Given the description of an element on the screen output the (x, y) to click on. 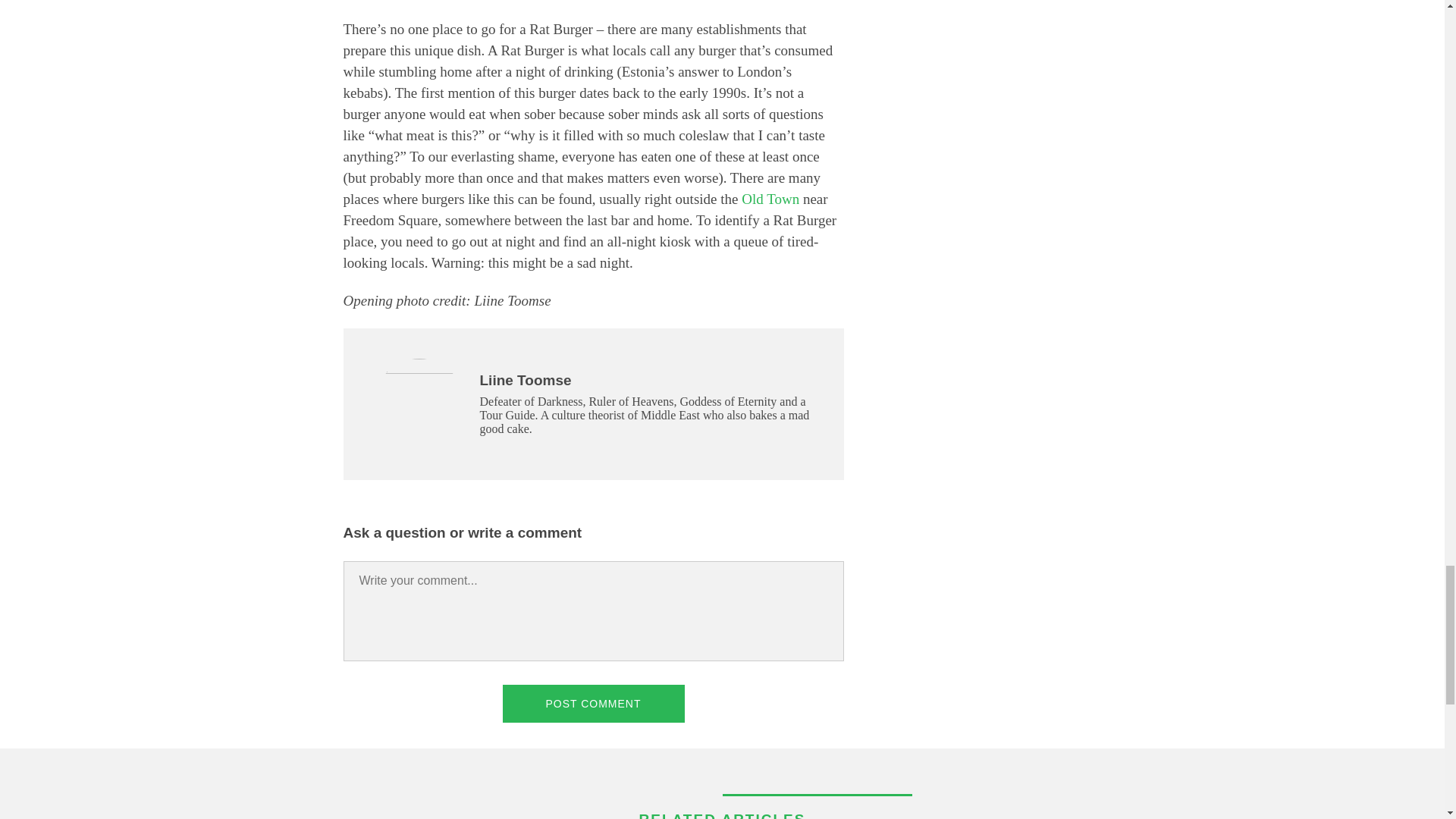
Post Comment (593, 703)
Old Town (770, 198)
